Given the description of an element on the screen output the (x, y) to click on. 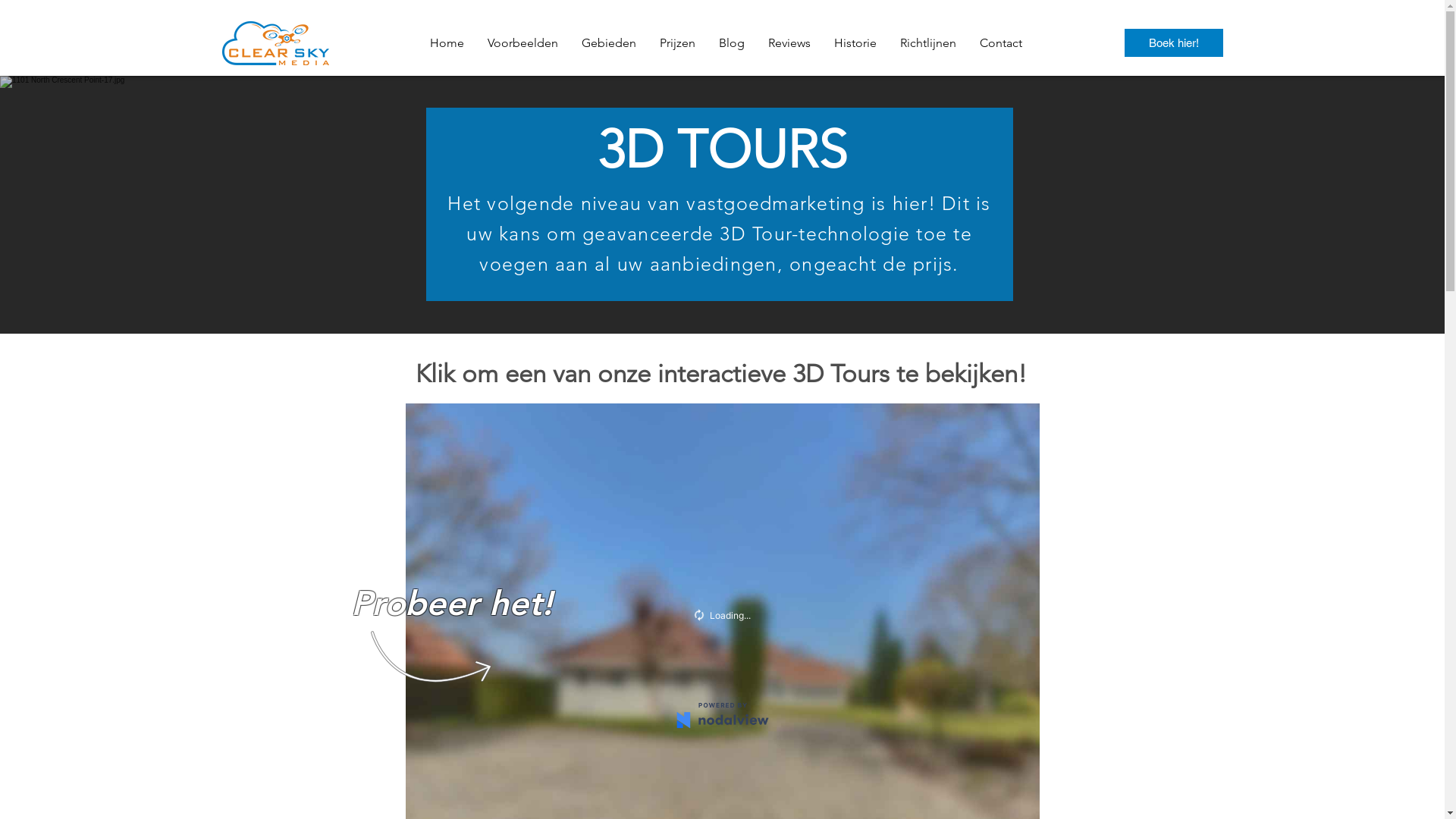
Reviews Element type: text (788, 42)
3D TOURS Element type: text (722, 149)
Historie Element type: text (855, 42)
Gebieden Element type: text (607, 42)
Boek hier! Element type: text (1172, 42)
Richtlijnen Element type: text (926, 42)
Home Element type: text (445, 42)
Blog Element type: text (731, 42)
Contact Element type: text (1000, 42)
